Given the description of an element on the screen output the (x, y) to click on. 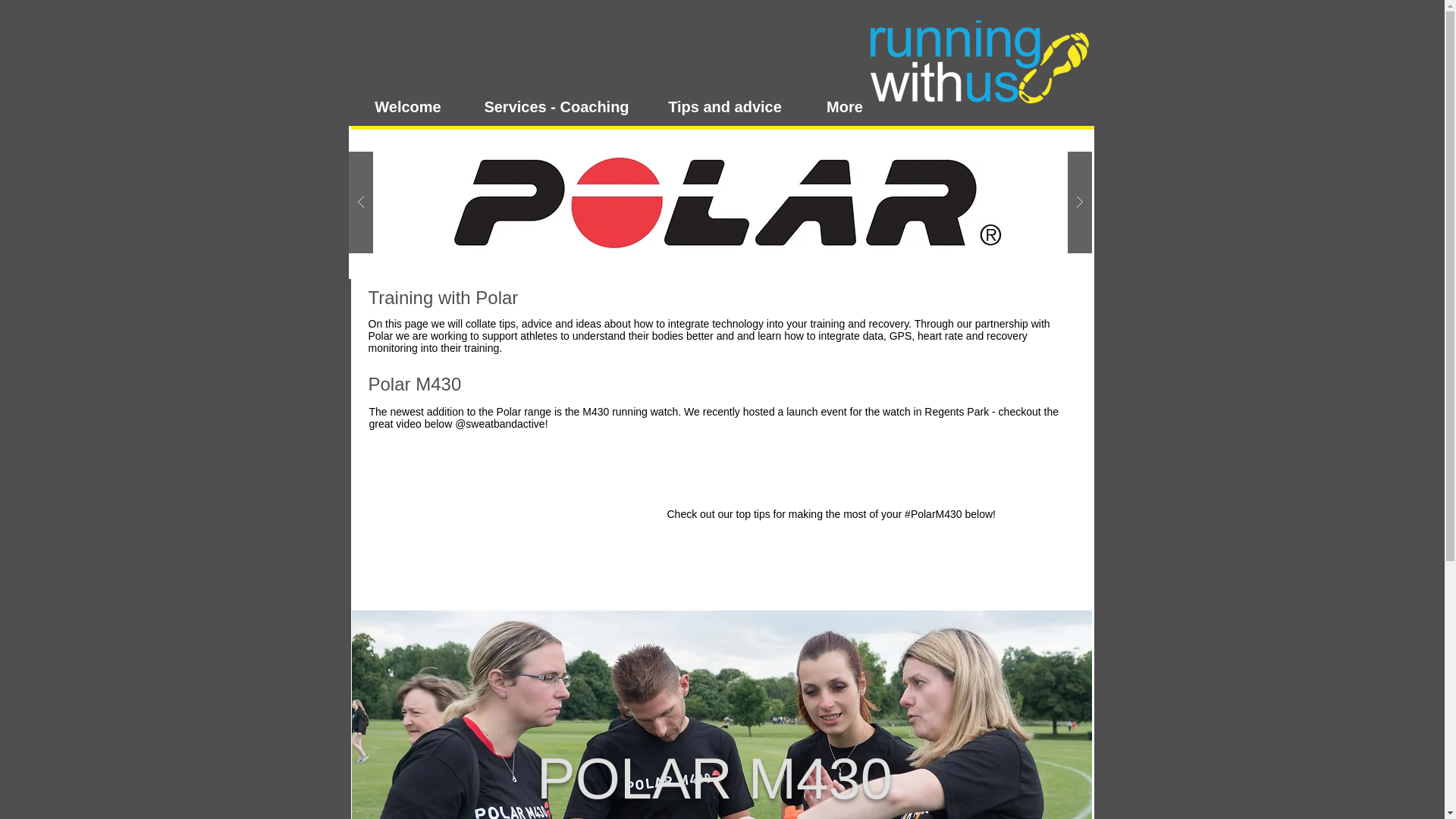
Services - Coaching (556, 106)
Welcome (407, 106)
Tips and advice (724, 106)
